Given the description of an element on the screen output the (x, y) to click on. 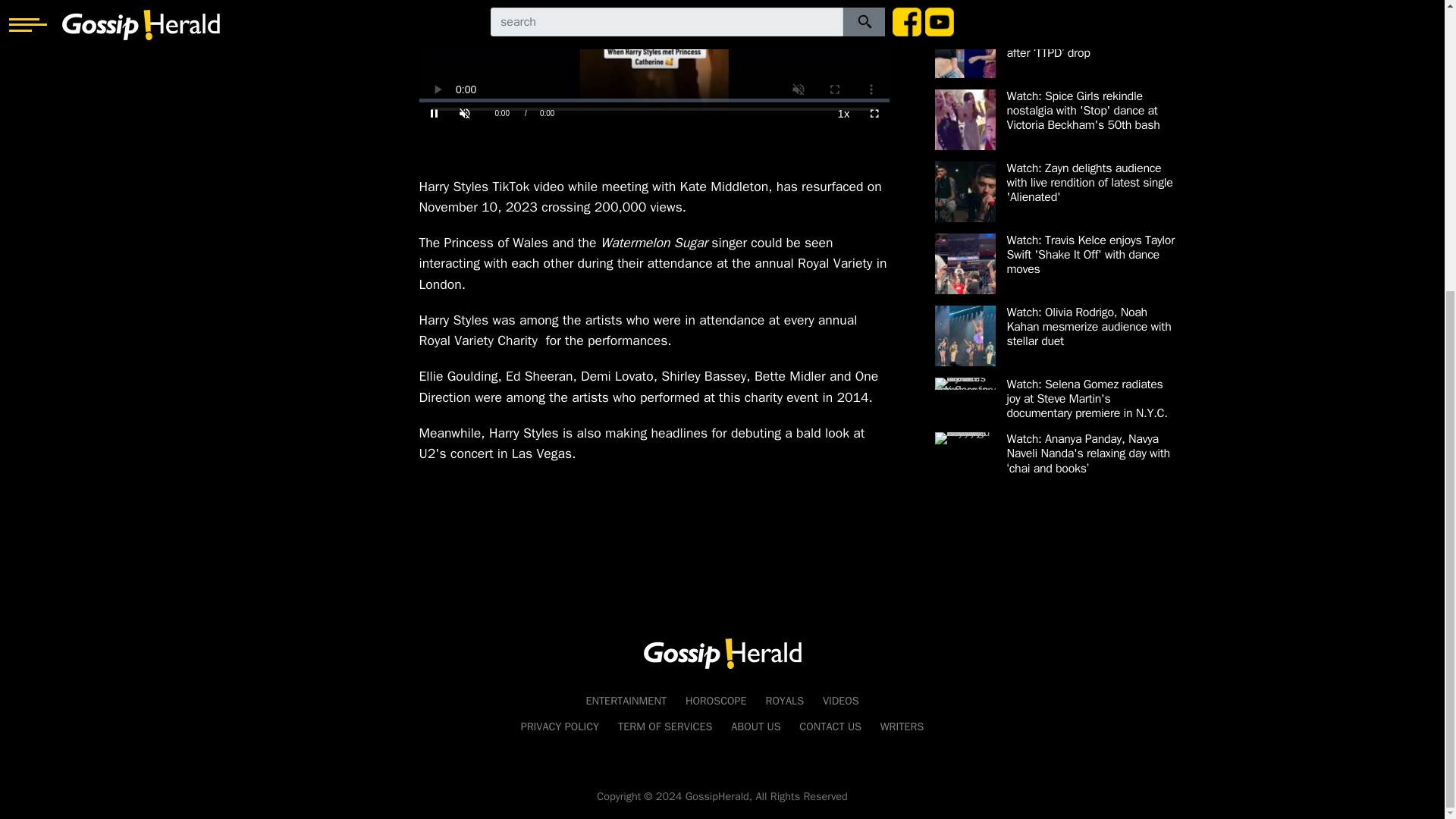
Unmute (463, 113)
Pause (433, 113)
Fullscreen (873, 113)
Playback Rate (843, 113)
